Given the description of an element on the screen output the (x, y) to click on. 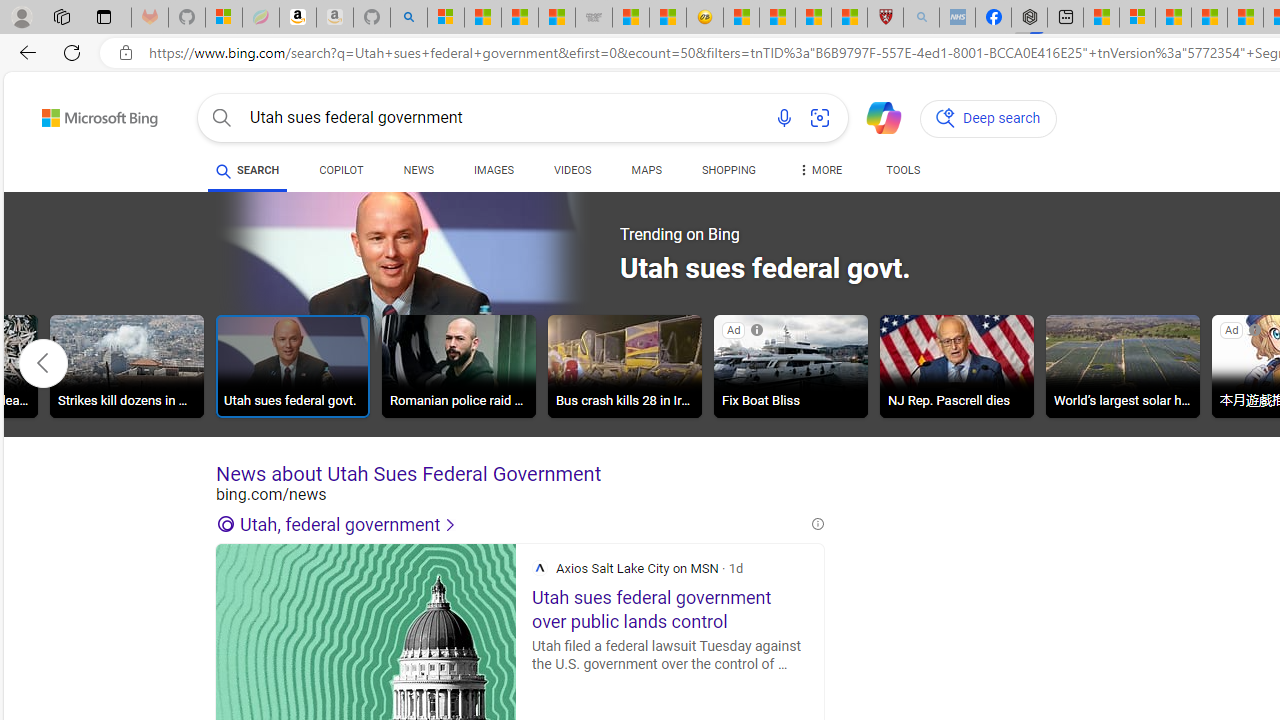
SEARCH (247, 170)
Back to Bing search (87, 113)
SHOPPING (728, 170)
NJ Rep. Pascrell dies (957, 369)
NEWS (418, 170)
SEARCH (247, 170)
